Given the description of an element on the screen output the (x, y) to click on. 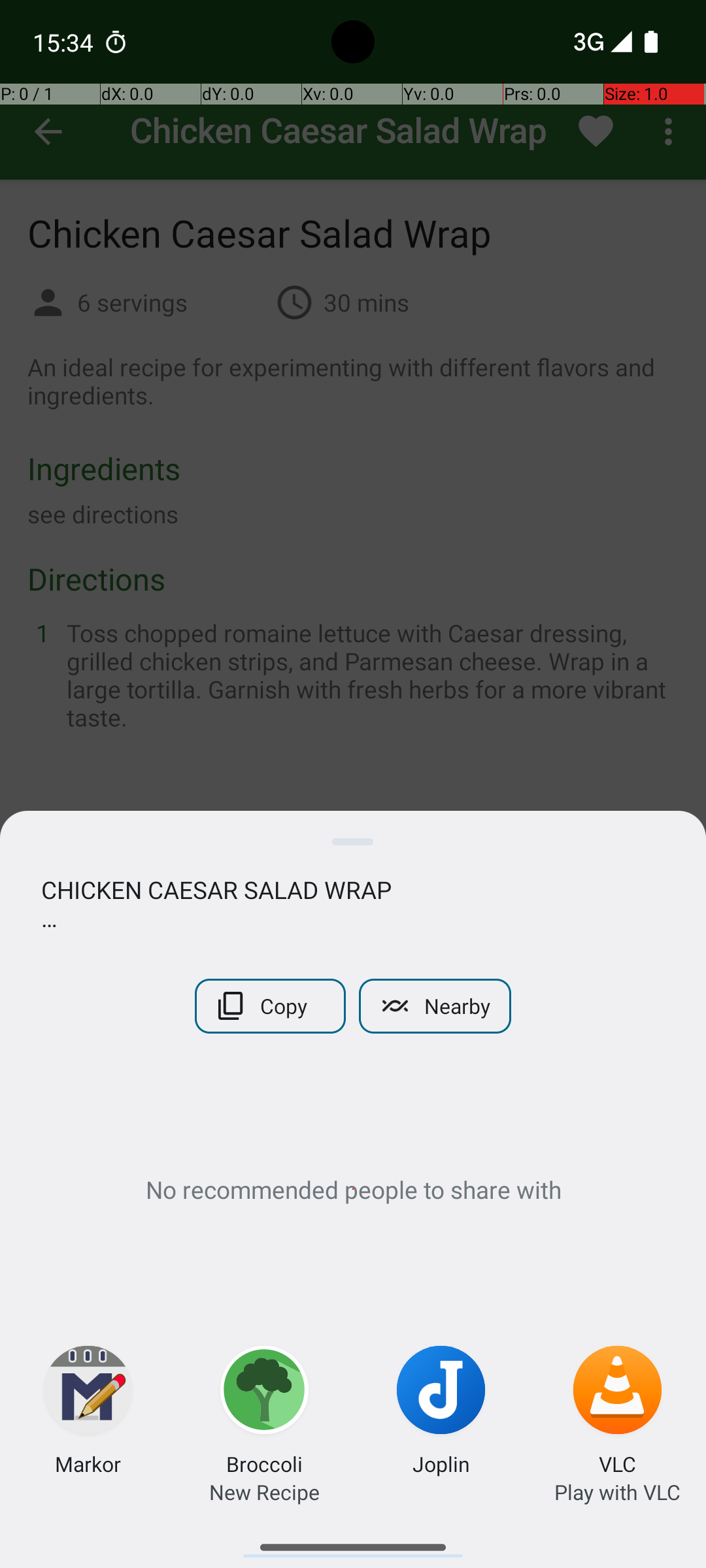
CHICKEN CAESAR SALAD WRAP

Servings: 6 servings
Time: 30 mins

An ideal recipe for experimenting with different flavors and ingredients.

Ingredients:
- see directions

Directions:
1. Toss chopped romaine lettuce with Caesar dressing, grilled chicken strips, and Parmesan cheese. Wrap in a large tortilla. Garnish with fresh herbs for a more vibrant taste.

Shared with https://play.google.com/store/apps/details?id=com.flauschcode.broccoli Element type: android.widget.TextView (352, 903)
